Given the description of an element on the screen output the (x, y) to click on. 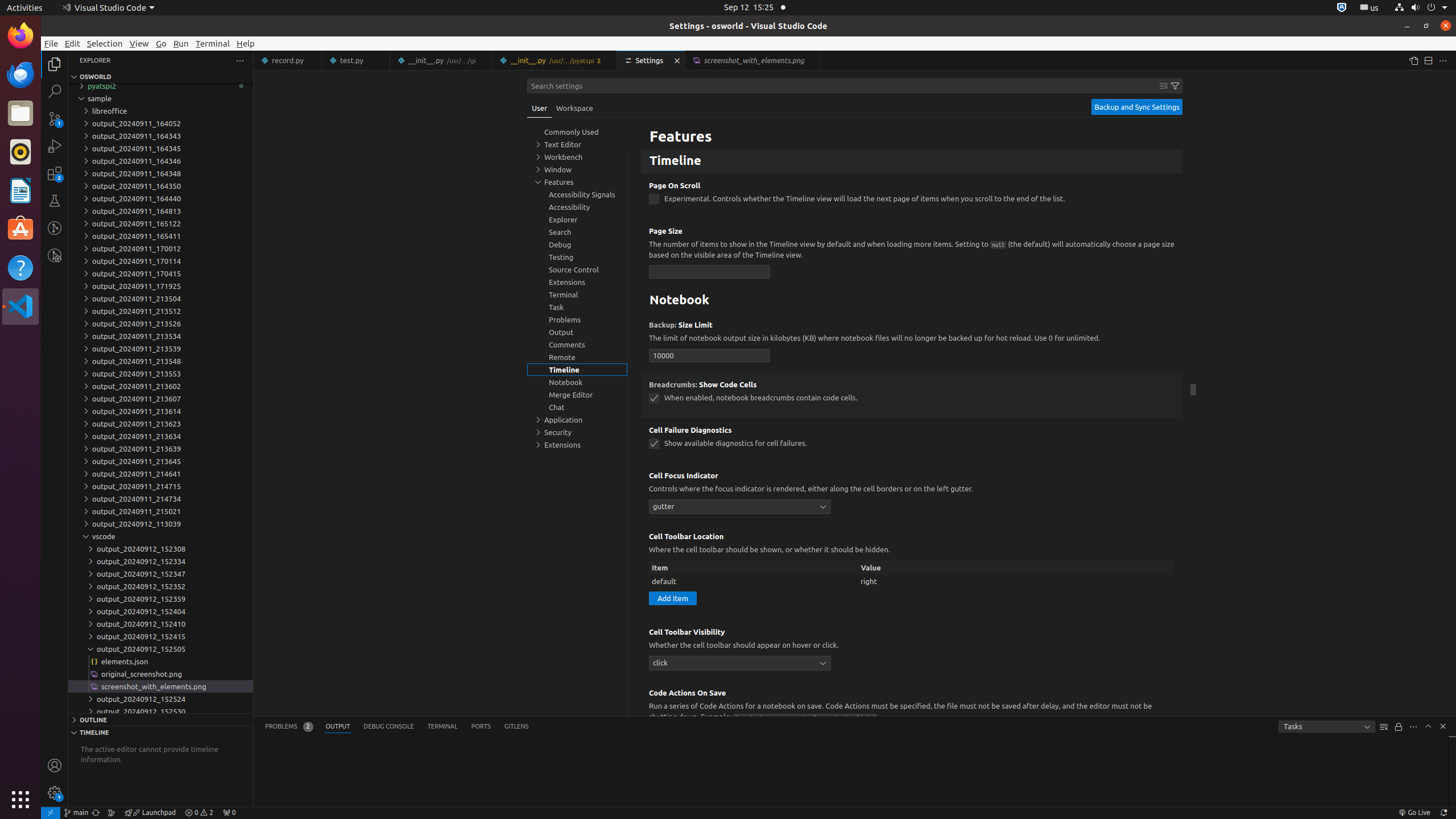
libreoffice Element type: tree-item (160, 110)
Search (Ctrl+Shift+F) Element type: page-tab (54, 91)
Comments, group Element type: tree-item (577, 344)
output_20240911_213526 Element type: tree-item (160, 323)
GitLens Inspect Element type: page-tab (54, 255)
